Given the description of an element on the screen output the (x, y) to click on. 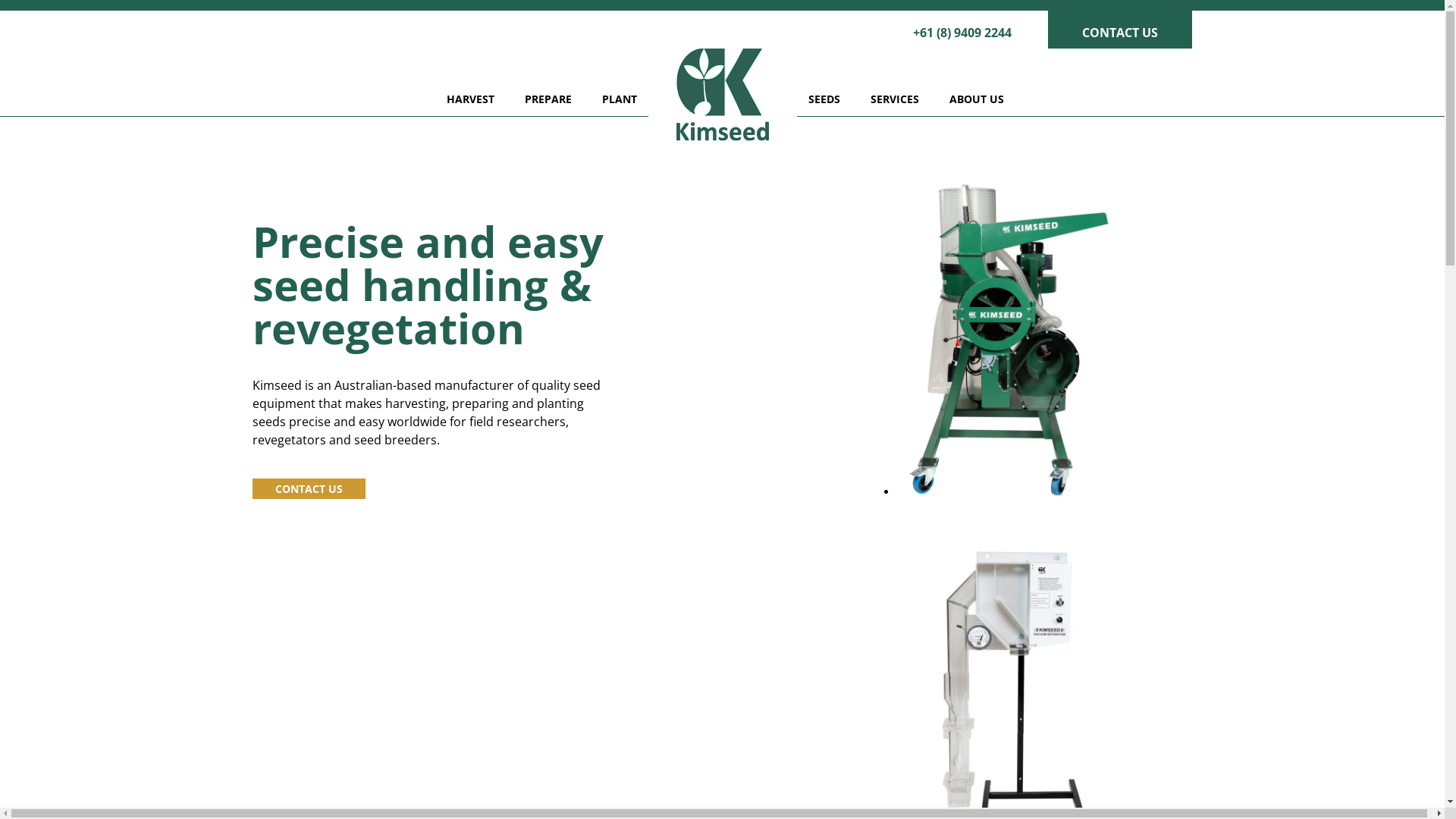
CONTACT US Element type: text (1120, 29)
SERVICES Element type: text (893, 98)
HARVEST Element type: text (470, 98)
SEEDS Element type: text (823, 98)
ABOUT US Element type: text (975, 98)
PREPARE Element type: text (547, 98)
+61 (8) 9409 2244 Element type: text (961, 29)
Kimseed Element type: text (722, 94)
CONTACT US Element type: text (307, 488)
PLANT Element type: text (618, 98)
